Given the description of an element on the screen output the (x, y) to click on. 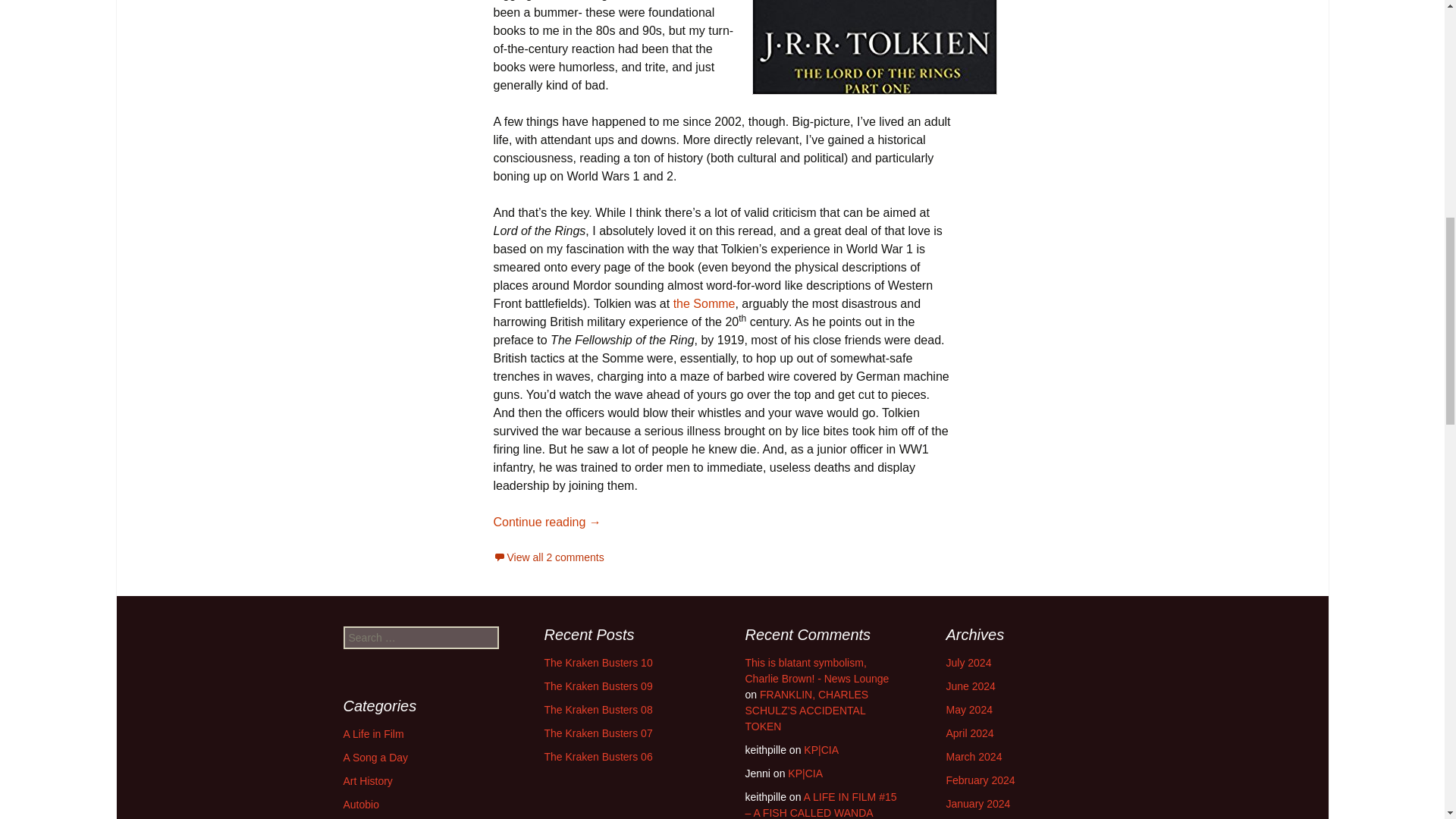
The Kraken Busters 10 (598, 662)
This is blatant symbolism, Charlie Brown! - News Lounge (816, 670)
The Kraken Busters 07 (598, 733)
The Kraken Busters 09 (598, 686)
The Kraken Busters 06 (598, 756)
July 2024 (968, 662)
View all 2 comments (548, 557)
the Somme (703, 303)
The Kraken Busters 08 (598, 709)
